Given the description of an element on the screen output the (x, y) to click on. 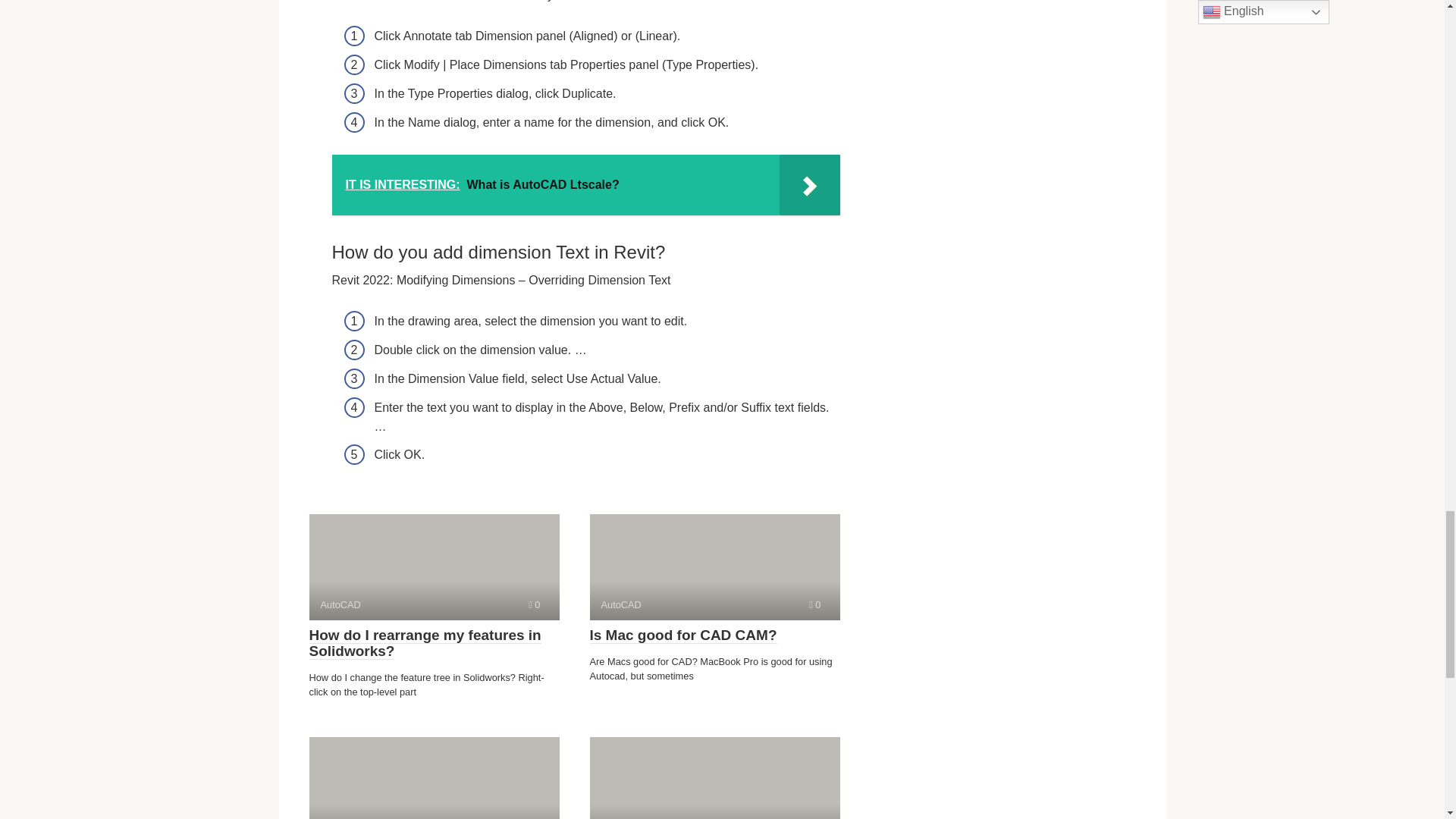
How do I rearrange my features in Solidworks? (433, 778)
Is Mac good for CAD CAM? (424, 643)
IT IS INTERESTING:  What is AutoCAD Ltscale? (714, 566)
Comments (683, 635)
Comments (433, 566)
